Given the description of an element on the screen output the (x, y) to click on. 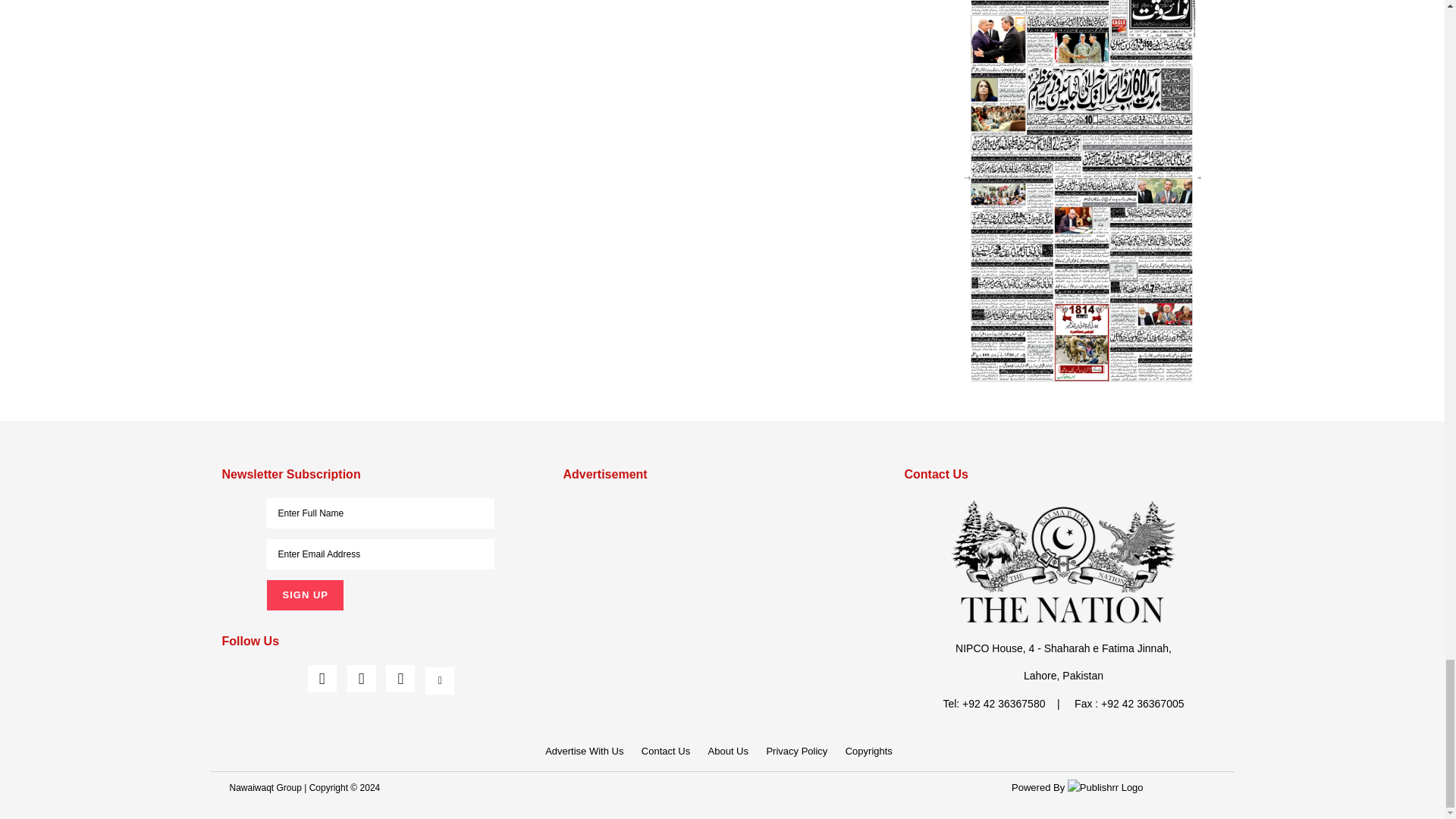
Sign up (304, 594)
